Given the description of an element on the screen output the (x, y) to click on. 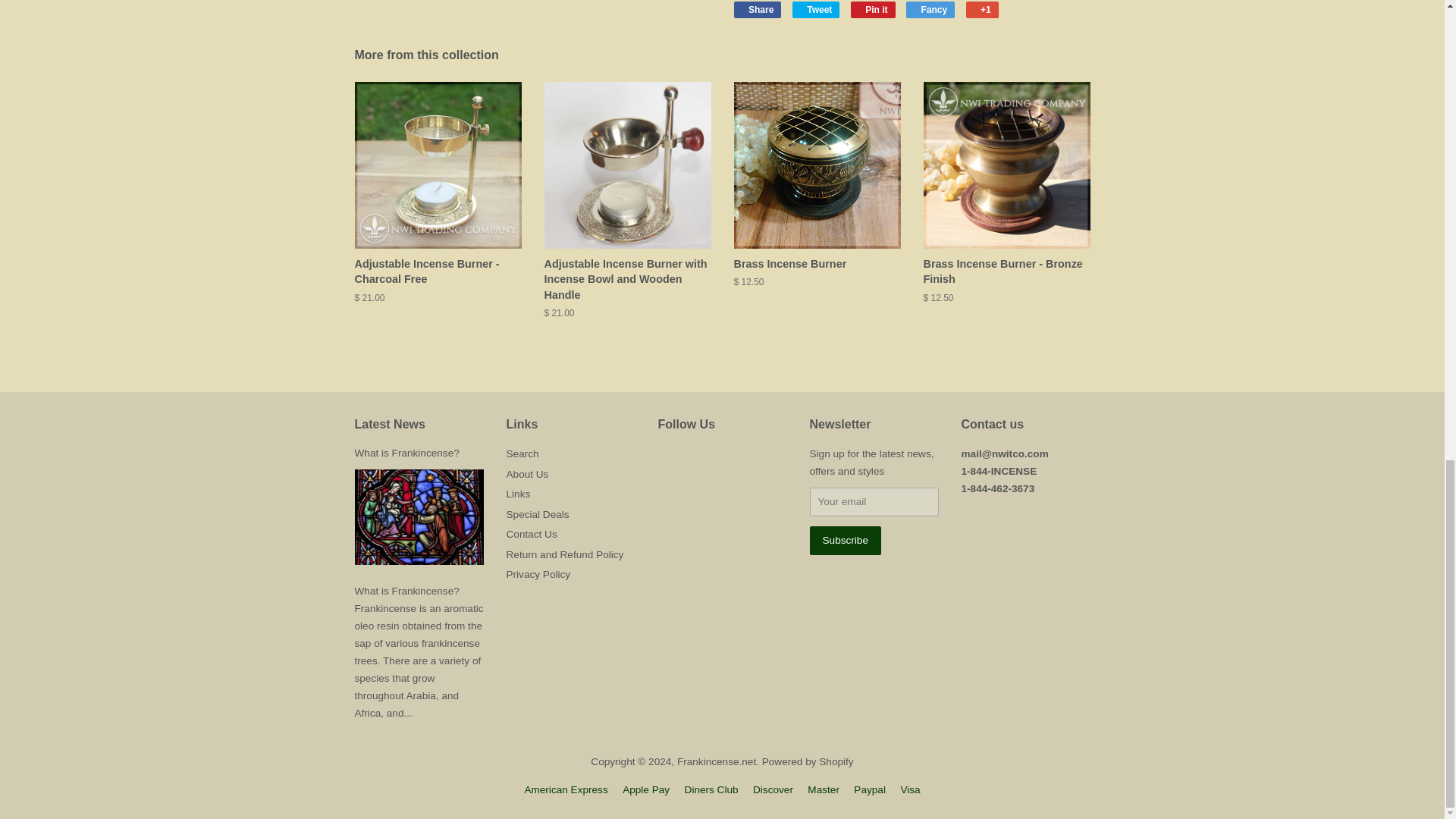
Subscribe (844, 540)
Add to Fancy (930, 9)
Tweet on Twitter (816, 9)
Share on Facebook (757, 9)
Pin on Pinterest (872, 9)
